Given the description of an element on the screen output the (x, y) to click on. 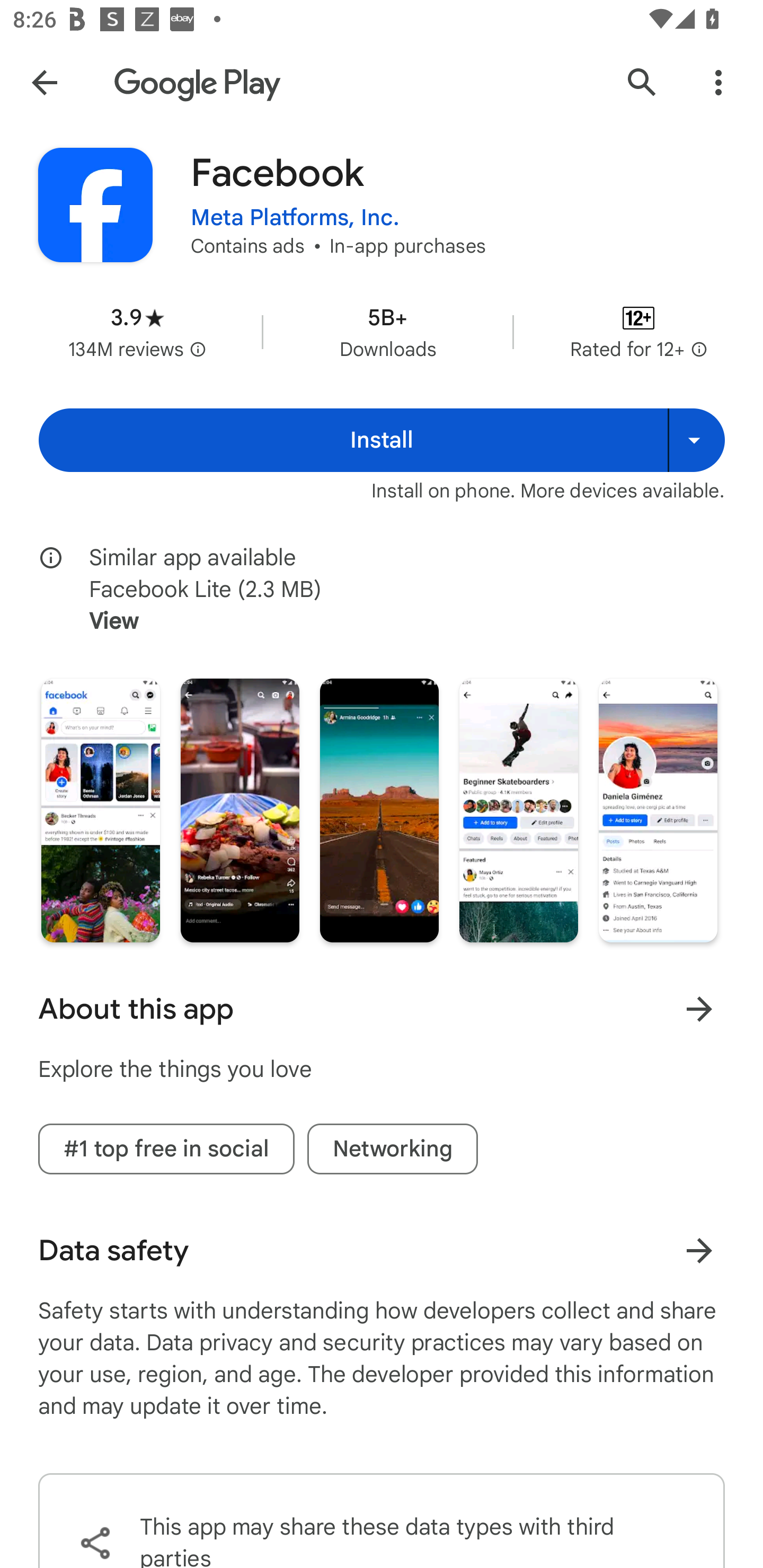
Navigate up (44, 81)
Search Google Play (642, 81)
More Options (718, 81)
Meta Platforms, Inc. (294, 217)
Average rating 3.9 stars in 134 million reviews (137, 331)
Content rating Rated for 12+ (638, 331)
Install Install Install on more devices (381, 439)
Install on more devices (695, 439)
Similar app available
Facebook Lite (2.3 MB)
View (394, 589)
Screenshot "1" of "5" (100, 810)
Screenshot "2" of "5" (239, 810)
Screenshot "3" of "5" (378, 810)
Screenshot "4" of "5" (518, 810)
Screenshot "5" of "5" (657, 810)
About this app Learn more About this app (381, 1008)
Learn more About this app (699, 1008)
#1 top free in social tag (166, 1148)
Networking tag (392, 1148)
Data safety Learn more about data safety (381, 1250)
Learn more about data safety (699, 1250)
